Given the description of an element on the screen output the (x, y) to click on. 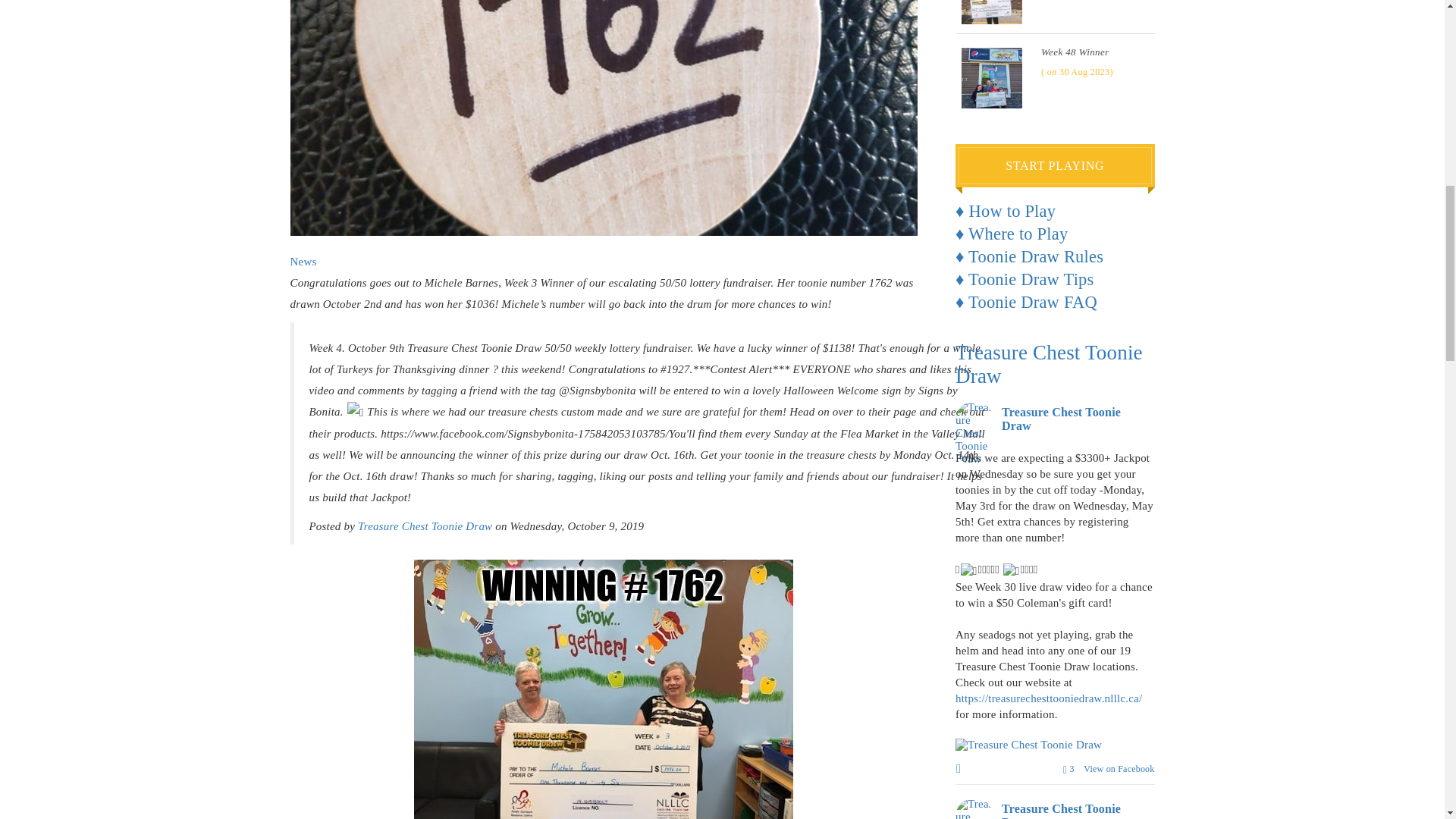
Treasure Chest Toonie Draw (425, 526)
News (302, 261)
Social Share Options (960, 769)
